Given the description of an element on the screen output the (x, y) to click on. 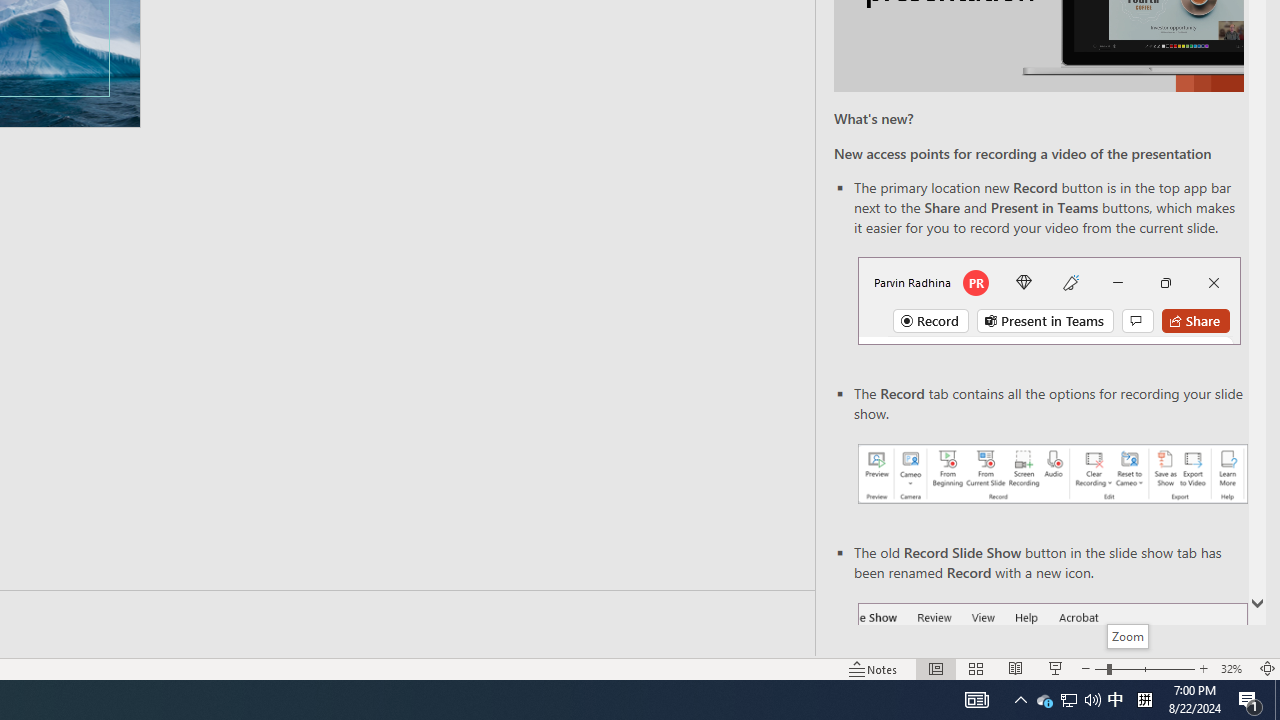
Record button in top bar (1049, 300)
Zoom 32% (1234, 668)
Record your presentations screenshot one (1052, 473)
